Given the description of an element on the screen output the (x, y) to click on. 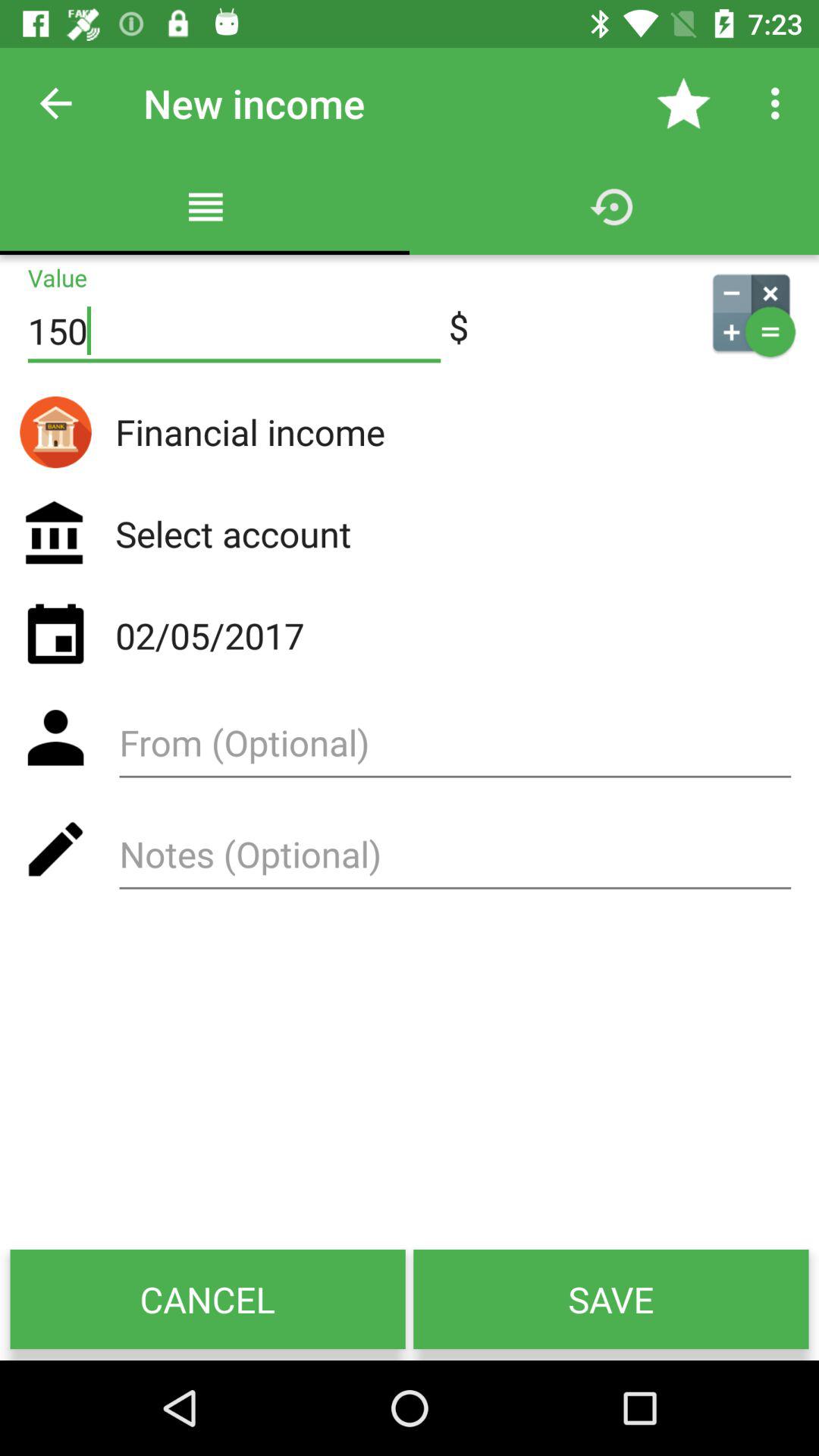
write notes (455, 859)
